Given the description of an element on the screen output the (x, y) to click on. 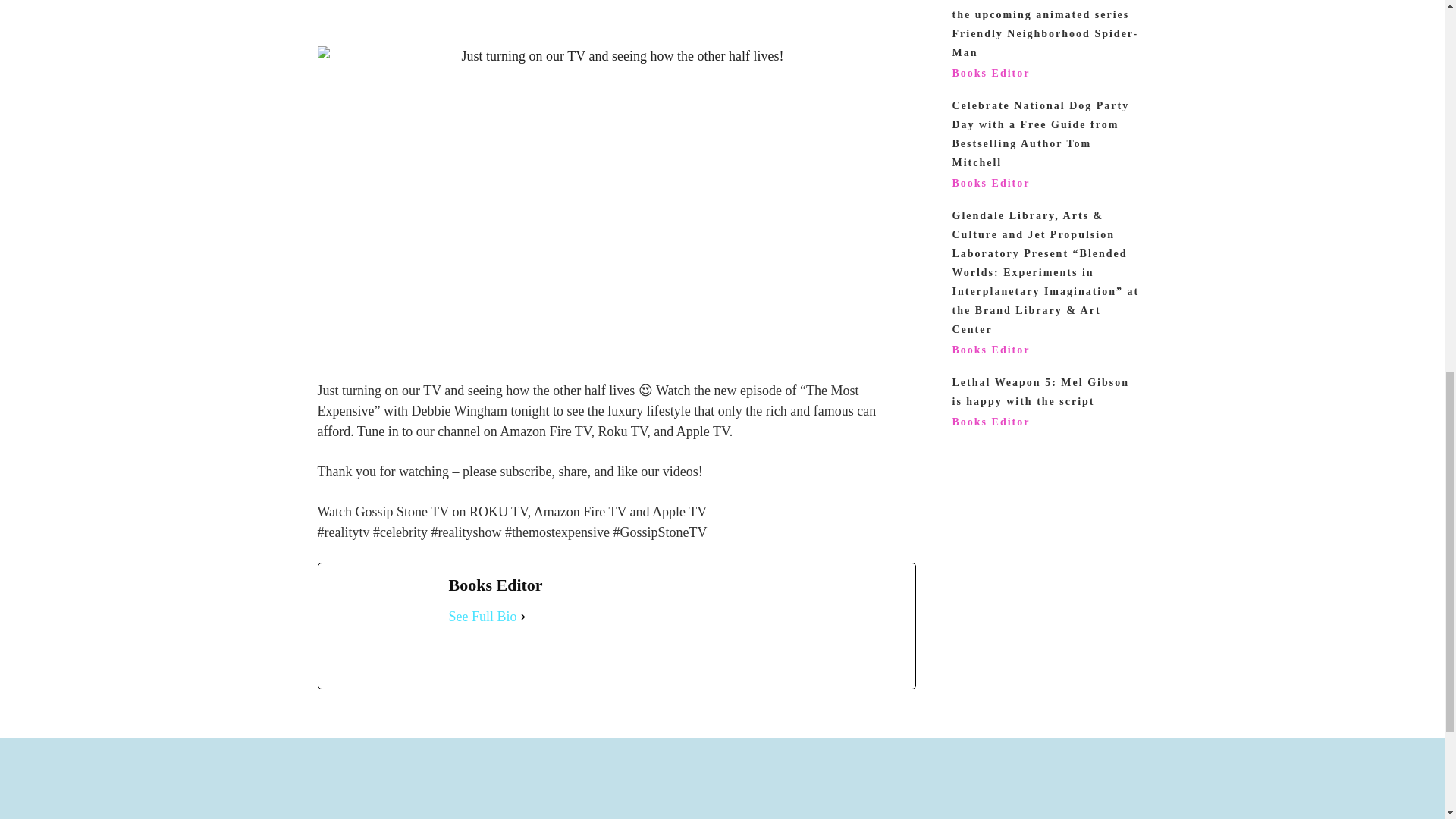
Books Editor (991, 72)
Just turning on our TV and seeing how the other half lives! (616, 55)
See Full Bio (482, 616)
